Given the description of an element on the screen output the (x, y) to click on. 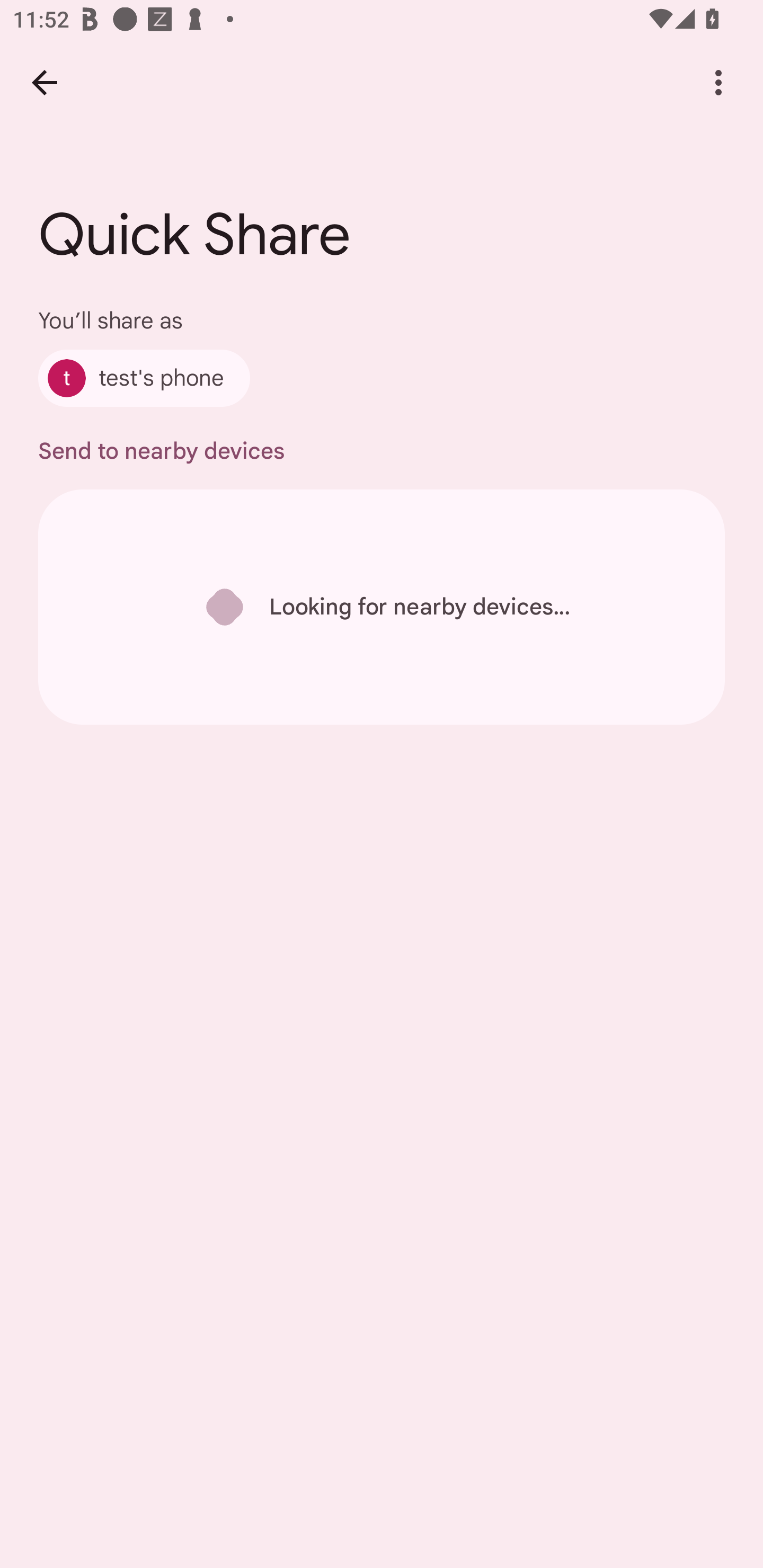
Back (44, 81)
More (718, 81)
test's phone (144, 378)
